Given the description of an element on the screen output the (x, y) to click on. 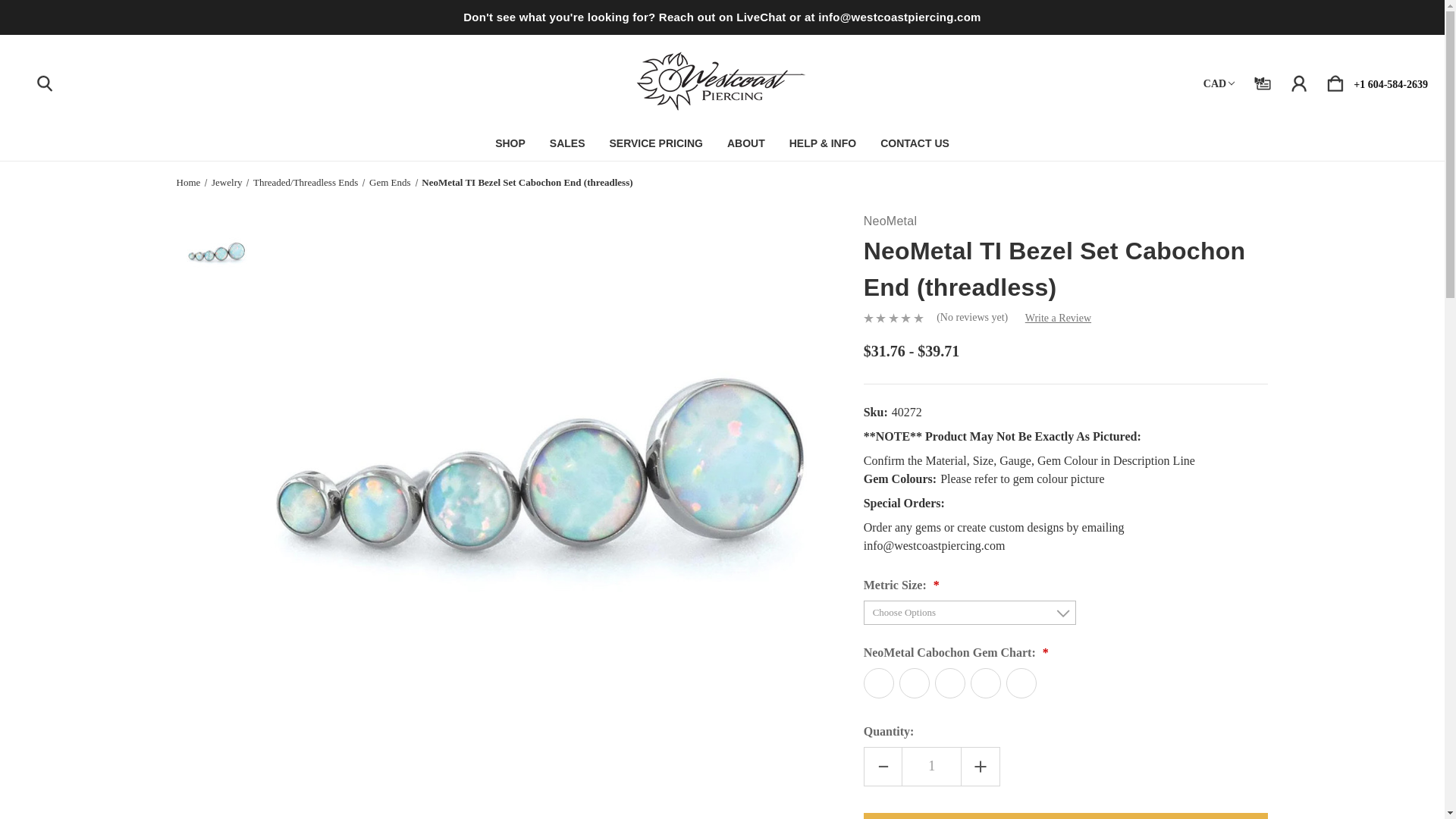
Add to Cart (1065, 816)
1 (931, 766)
White Opal (1021, 683)
Peacock Opal (949, 683)
Black Opal (878, 683)
Capri Blue Opal (914, 683)
